Given the description of an element on the screen output the (x, y) to click on. 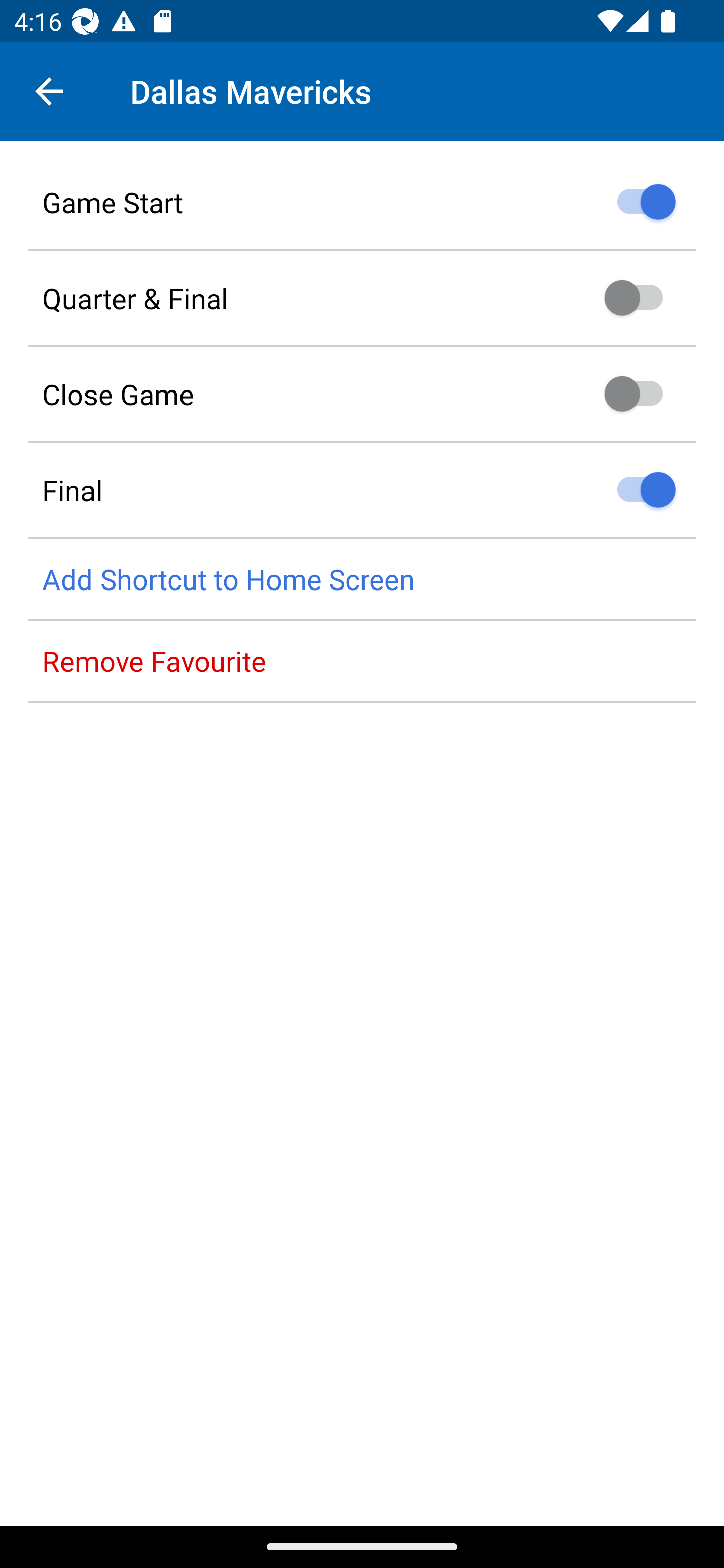
Navigate up (49, 91)
Add Shortcut to Home Screen (362, 579)
Remove Favourite (362, 661)
